Given the description of an element on the screen output the (x, y) to click on. 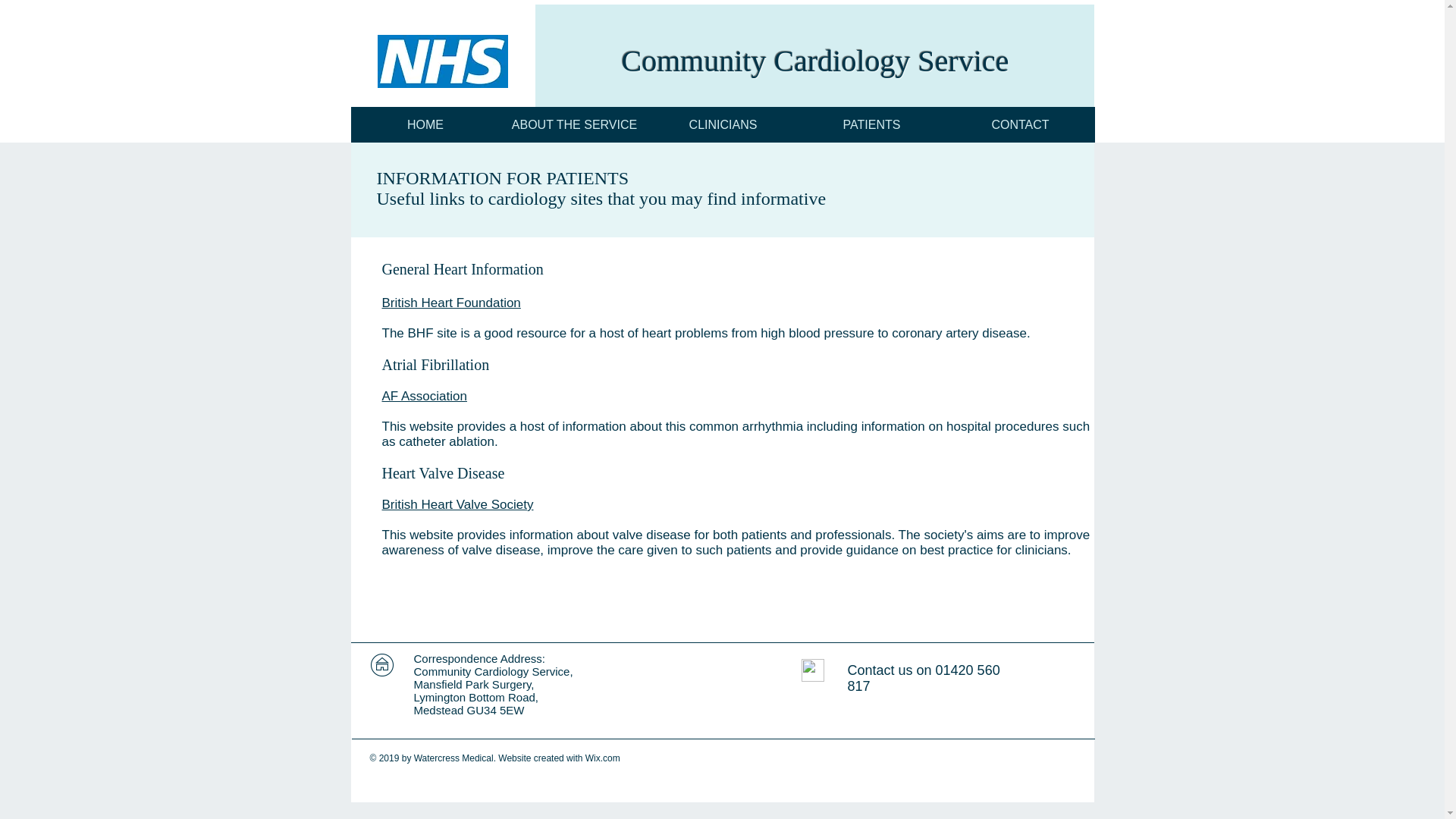
HOME (424, 124)
British Heart Valve Society (457, 504)
British Heart Foundation (451, 302)
Community Cardiology Service (815, 60)
AF Association (424, 396)
CONTACT (1020, 124)
Wix.com (602, 757)
